Given the description of an element on the screen output the (x, y) to click on. 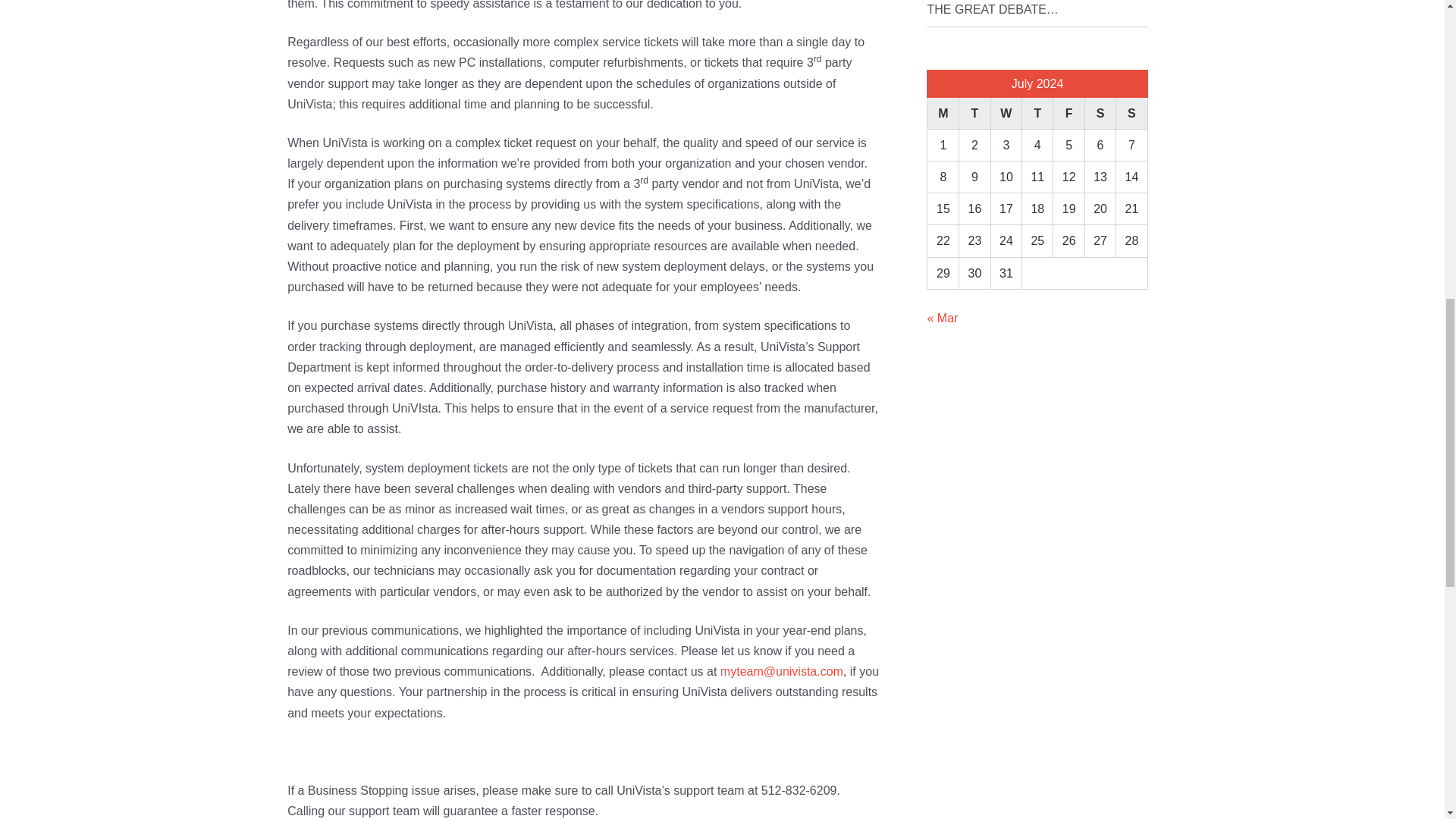
Sunday (1131, 113)
Friday (1068, 113)
Monday (942, 113)
Saturday (1100, 113)
Wednesday (1006, 113)
Thursday (1037, 113)
Tuesday (974, 113)
